Given the description of an element on the screen output the (x, y) to click on. 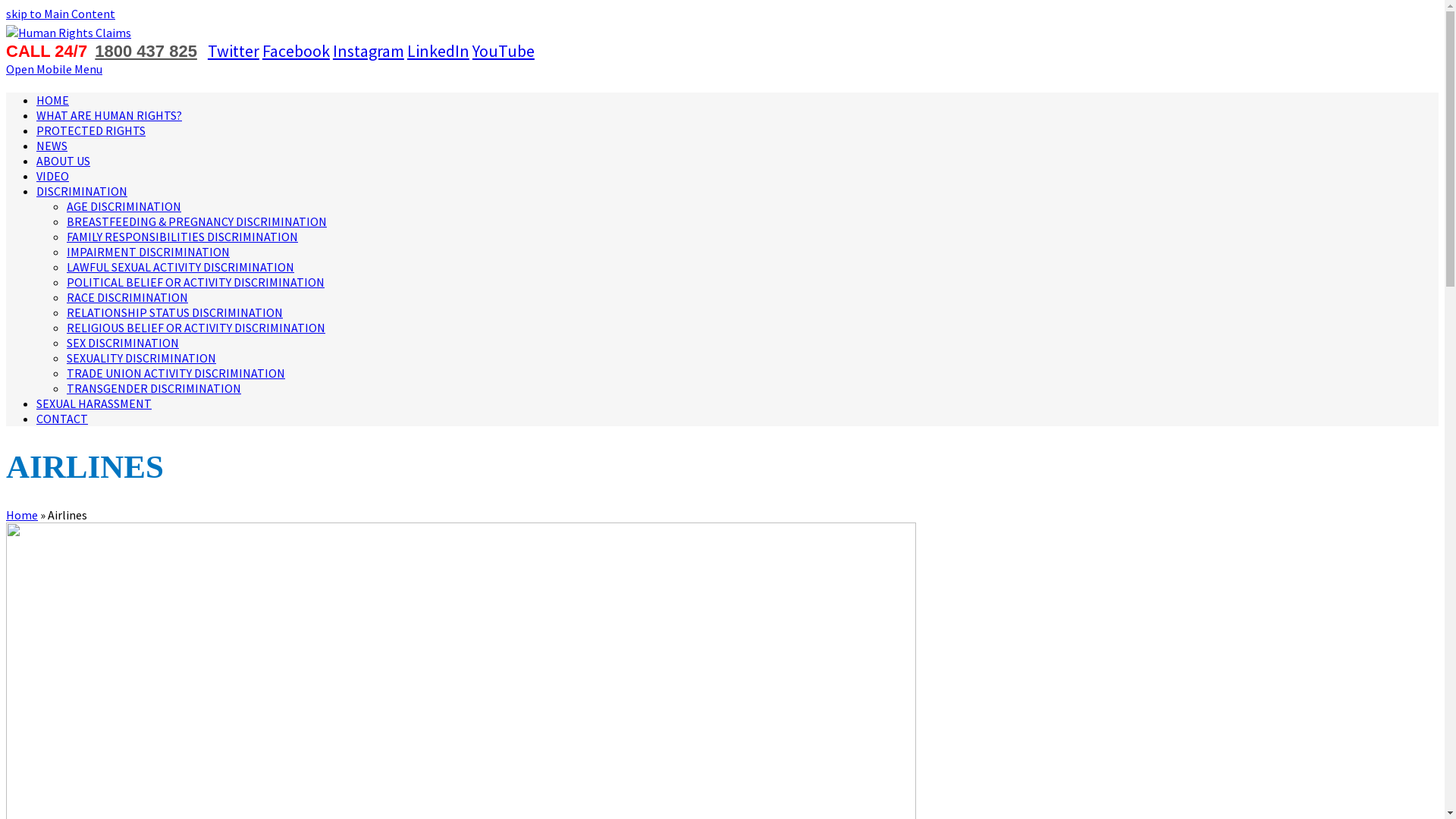
DISCRIMINATION Element type: text (81, 190)
YouTube Element type: text (503, 50)
BREASTFEEDING & PREGNANCY DISCRIMINATION Element type: text (196, 221)
RELATIONSHIP STATUS DISCRIMINATION Element type: text (174, 312)
WHAT ARE HUMAN RIGHTS? Element type: text (109, 114)
VIDEO Element type: text (52, 175)
RELIGIOUS BELIEF OR ACTIVITY DISCRIMINATION Element type: text (195, 327)
Instagram Element type: text (368, 50)
Twitter Element type: text (233, 50)
LinkedIn Element type: text (438, 50)
NEWS Element type: text (51, 145)
ABOUT US Element type: text (63, 160)
RACE DISCRIMINATION Element type: text (127, 296)
PROTECTED RIGHTS Element type: text (90, 130)
LAWFUL SEXUAL ACTIVITY DISCRIMINATION Element type: text (180, 266)
FAMILY RESPONSIBILITIES DISCRIMINATION Element type: text (182, 236)
IMPAIRMENT DISCRIMINATION Element type: text (147, 251)
1800 437 825 Element type: text (145, 50)
SEXUAL HARASSMENT Element type: text (93, 403)
skip to Main Content Element type: text (60, 13)
Facebook Element type: text (295, 50)
Home Element type: text (21, 514)
AGE DISCRIMINATION Element type: text (123, 205)
SEX DISCRIMINATION Element type: text (122, 342)
HOME Element type: text (52, 99)
Open Mobile Menu Element type: text (54, 68)
CONTACT Element type: text (61, 418)
TRANSGENDER DISCRIMINATION Element type: text (153, 387)
TRADE UNION ACTIVITY DISCRIMINATION Element type: text (175, 372)
SEXUALITY DISCRIMINATION Element type: text (141, 357)
POLITICAL BELIEF OR ACTIVITY DISCRIMINATION Element type: text (195, 281)
